Given the description of an element on the screen output the (x, y) to click on. 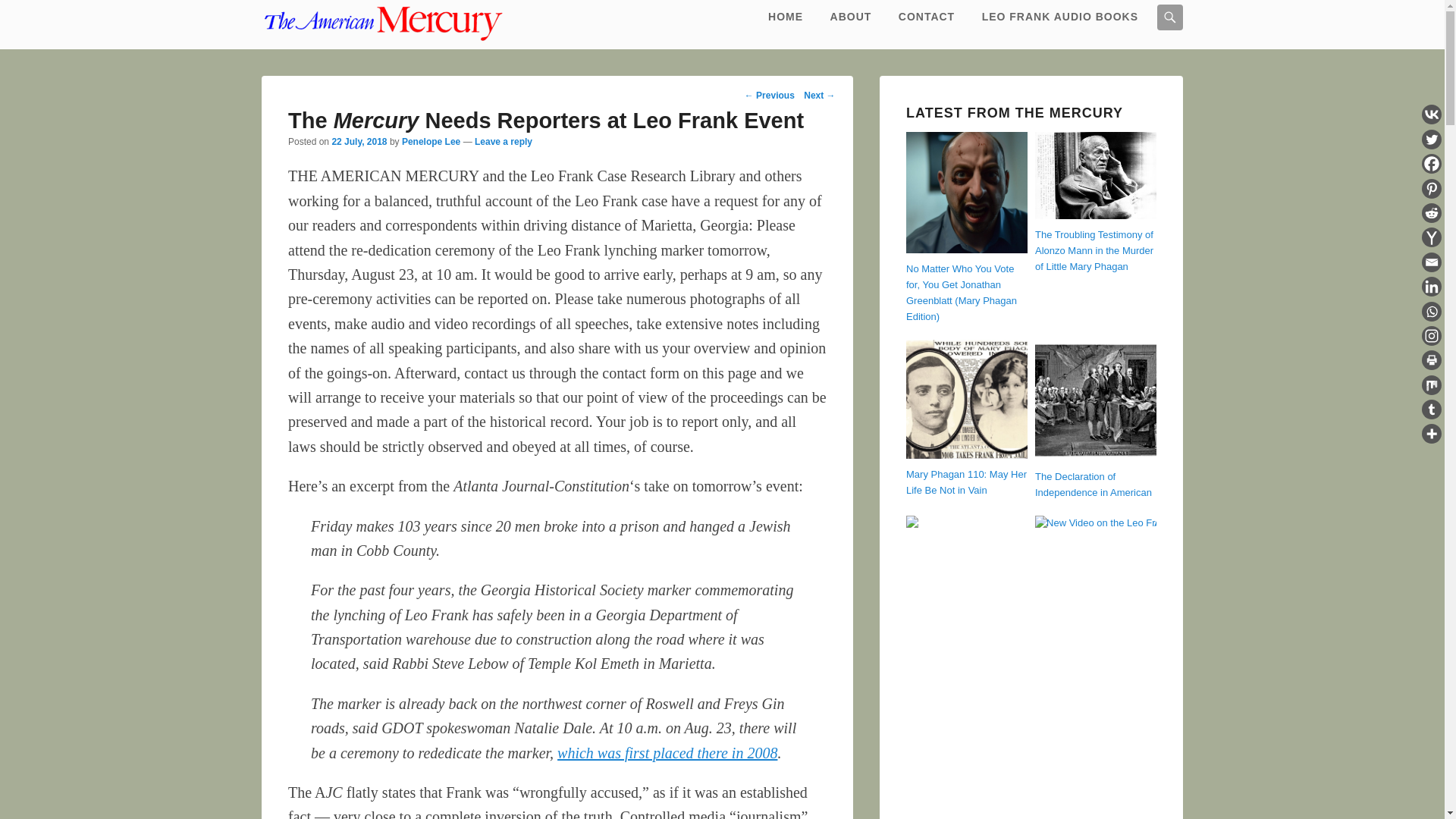
Reddit (1431, 212)
Penelope Lee (430, 141)
Linkedin (1431, 286)
View all posts by Penelope Lee (430, 141)
The American Mercury (382, 24)
Pinterest (1431, 189)
Leave a reply (503, 141)
Email (1431, 261)
Facebook (1431, 163)
5:17 am (359, 141)
LEO FRANK AUDIO BOOKS (1060, 17)
Yahoo Mail (1431, 237)
CONTACT (926, 17)
Vkontakte (1431, 114)
HOME (785, 17)
